Given the description of an element on the screen output the (x, y) to click on. 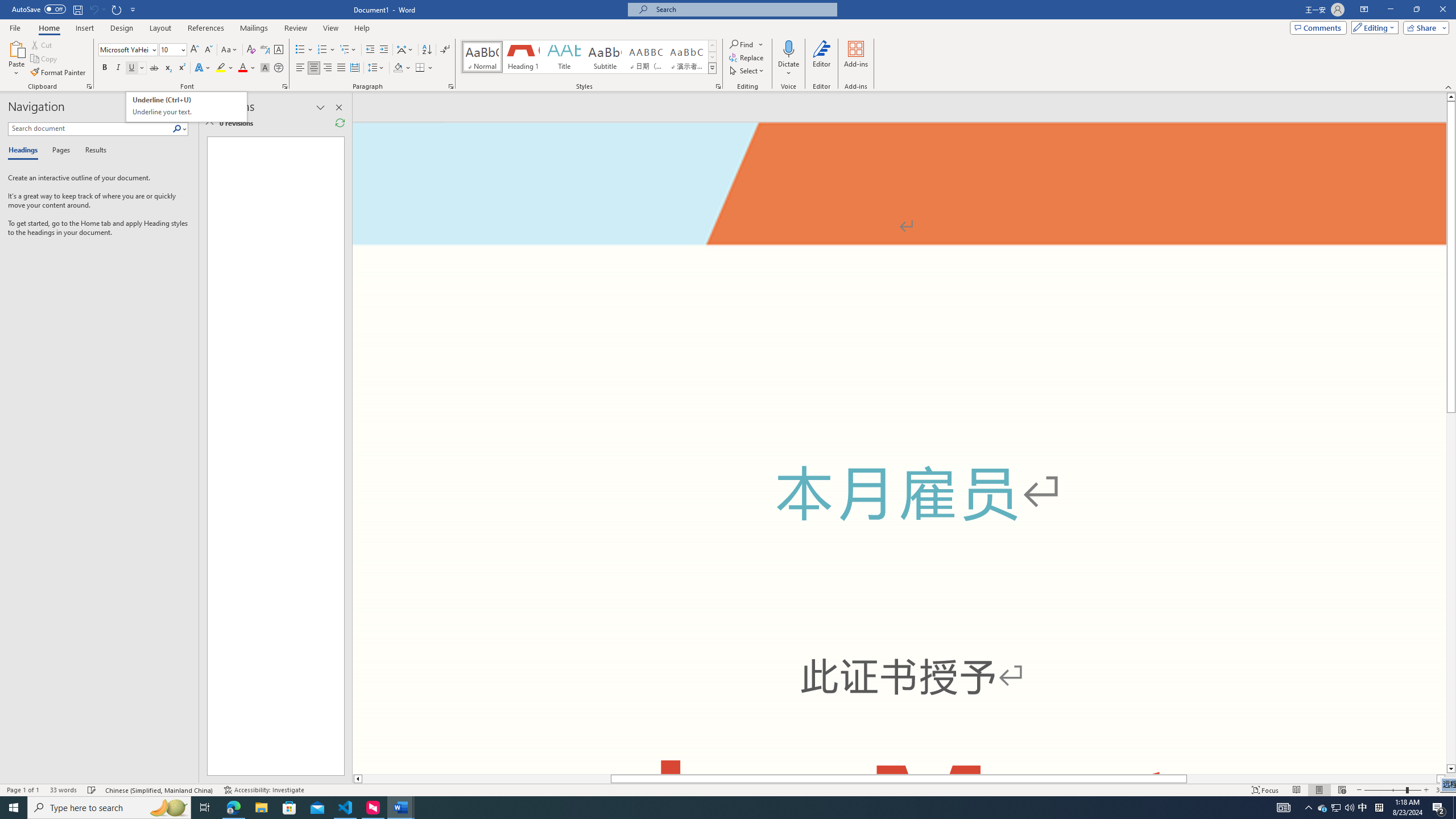
Line up (1450, 96)
AutomationID: QuickStylesGallery (588, 56)
Page Number Page 1 of 1 (22, 790)
